Given the description of an element on the screen output the (x, y) to click on. 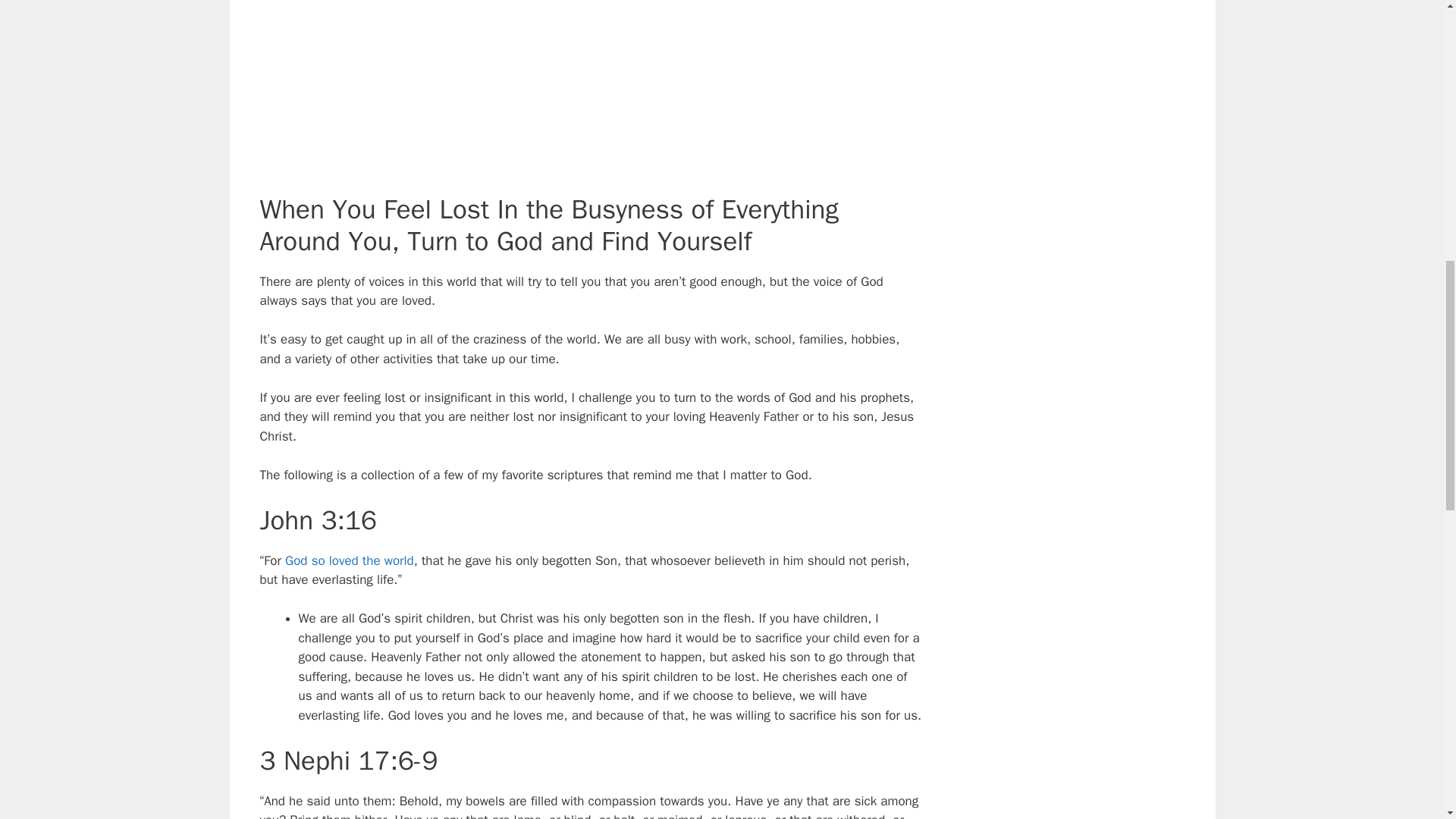
Scroll back to top (1406, 720)
